Given the description of an element on the screen output the (x, y) to click on. 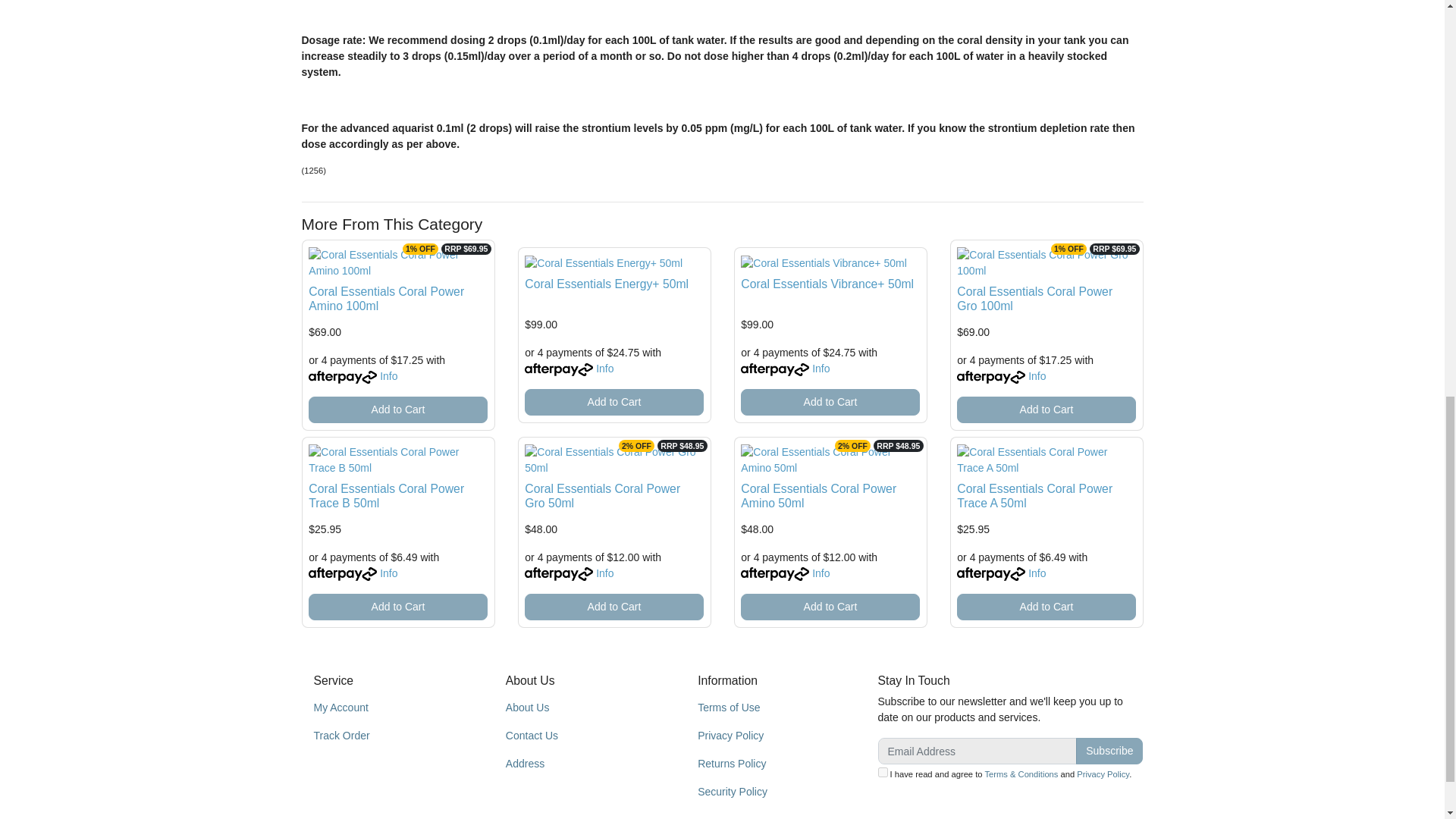
Add Coral Essentials Coral Power Gro 50ml to Cart (613, 606)
Add Coral Essentials Coral Power Trace A 50ml to Cart (1045, 606)
Add Coral Essentials Coral Power Amino 100ml to Cart (397, 409)
y (882, 772)
Add Coral Essentials Coral Power Trace B 50ml to Cart (397, 606)
Subscribe (1108, 750)
Add Coral Essentials Coral Power Amino 50ml to Cart (829, 606)
Add Coral Essentials Coral Power Gro 100ml to Cart (1045, 409)
